Given the description of an element on the screen output the (x, y) to click on. 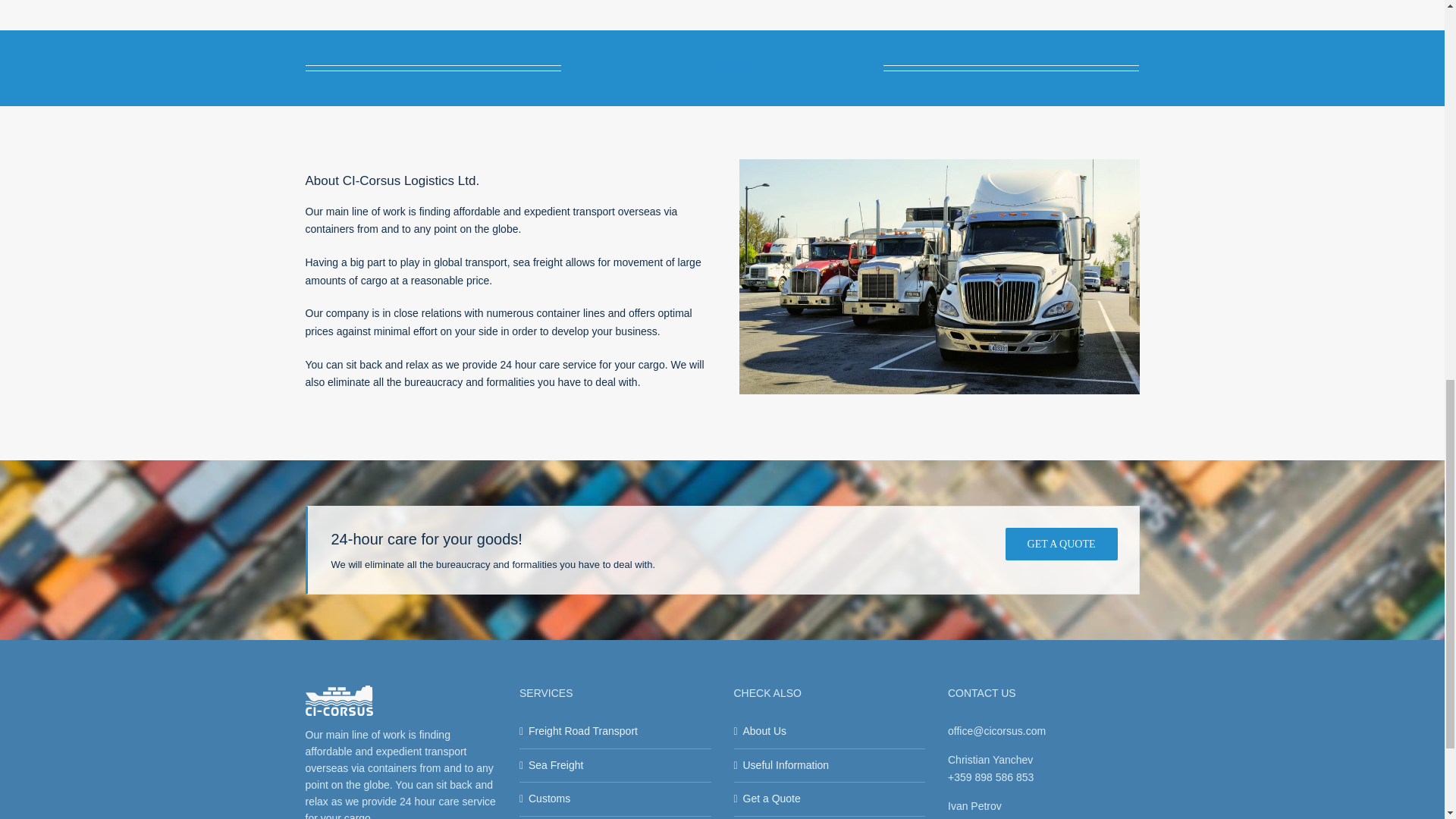
Sea Freight (615, 765)
Useful Information (830, 765)
Get a Quote (830, 799)
GET A QUOTE (1062, 543)
OUR SERVICES (721, 65)
Customs (615, 799)
Freight Road Transport (615, 731)
About Us (830, 731)
